Given the description of an element on the screen output the (x, y) to click on. 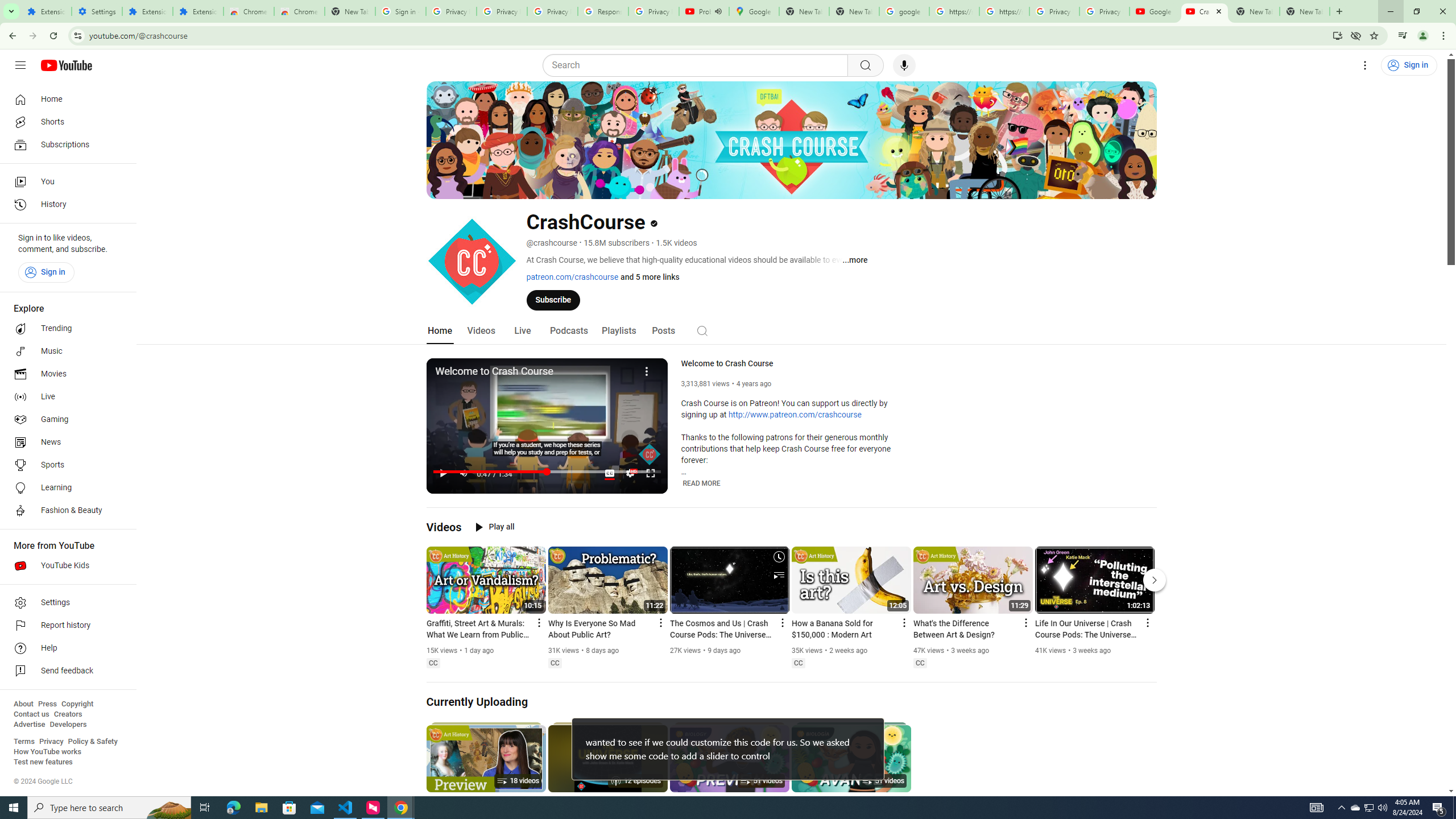
https://scholar.google.com/ (1004, 11)
Channel watermark (649, 454)
News (64, 441)
CrashCourse - YouTube (1204, 11)
Google - YouTube (1154, 11)
Mute tab (717, 10)
Learning (64, 487)
Press (46, 703)
Welcome to Crash Course (795, 363)
More (647, 370)
Channel watermark (649, 454)
History (64, 204)
Forward (32, 35)
